Given the description of an element on the screen output the (x, y) to click on. 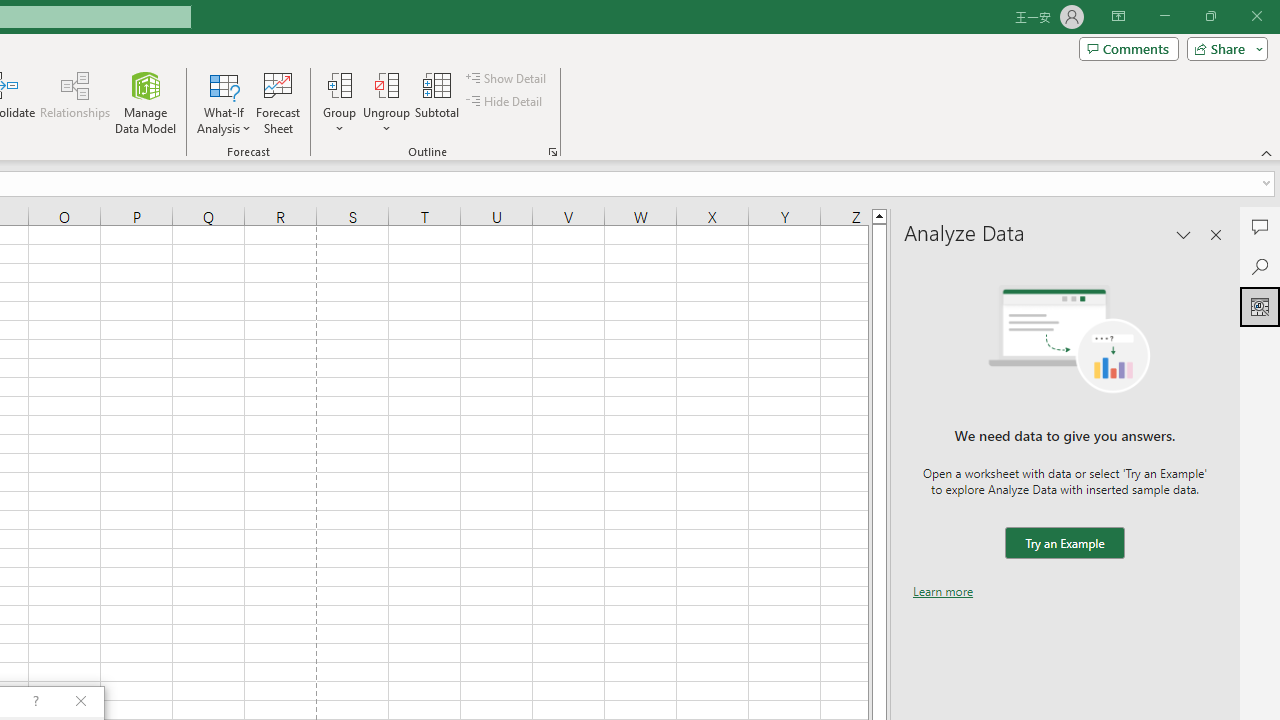
Ungroup... (386, 84)
We need data to give you answers. Try an Example (1064, 543)
Restore Down (1210, 16)
Ribbon Display Options (1118, 16)
Manage Data Model (145, 102)
Relationships (75, 102)
Close pane (1215, 234)
Hide Detail (505, 101)
Subtotal (437, 102)
Group... (339, 102)
